Given the description of an element on the screen output the (x, y) to click on. 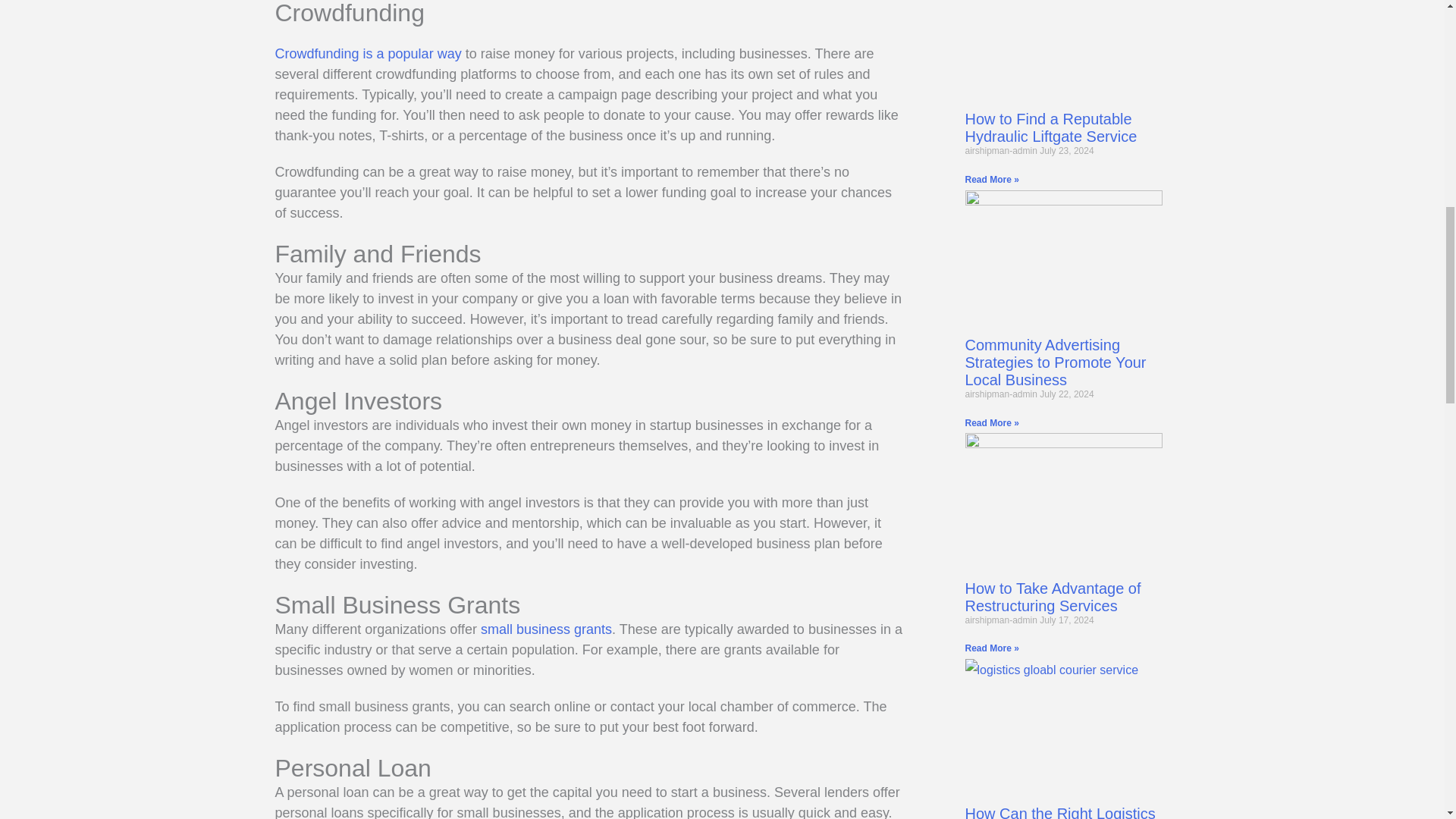
How to Take Advantage of Restructuring Services (1051, 596)
Crowdfunding is a popular way (368, 53)
small business grants (545, 629)
How to Find a Reputable Hydraulic Liftgate Service (1050, 127)
